Given the description of an element on the screen output the (x, y) to click on. 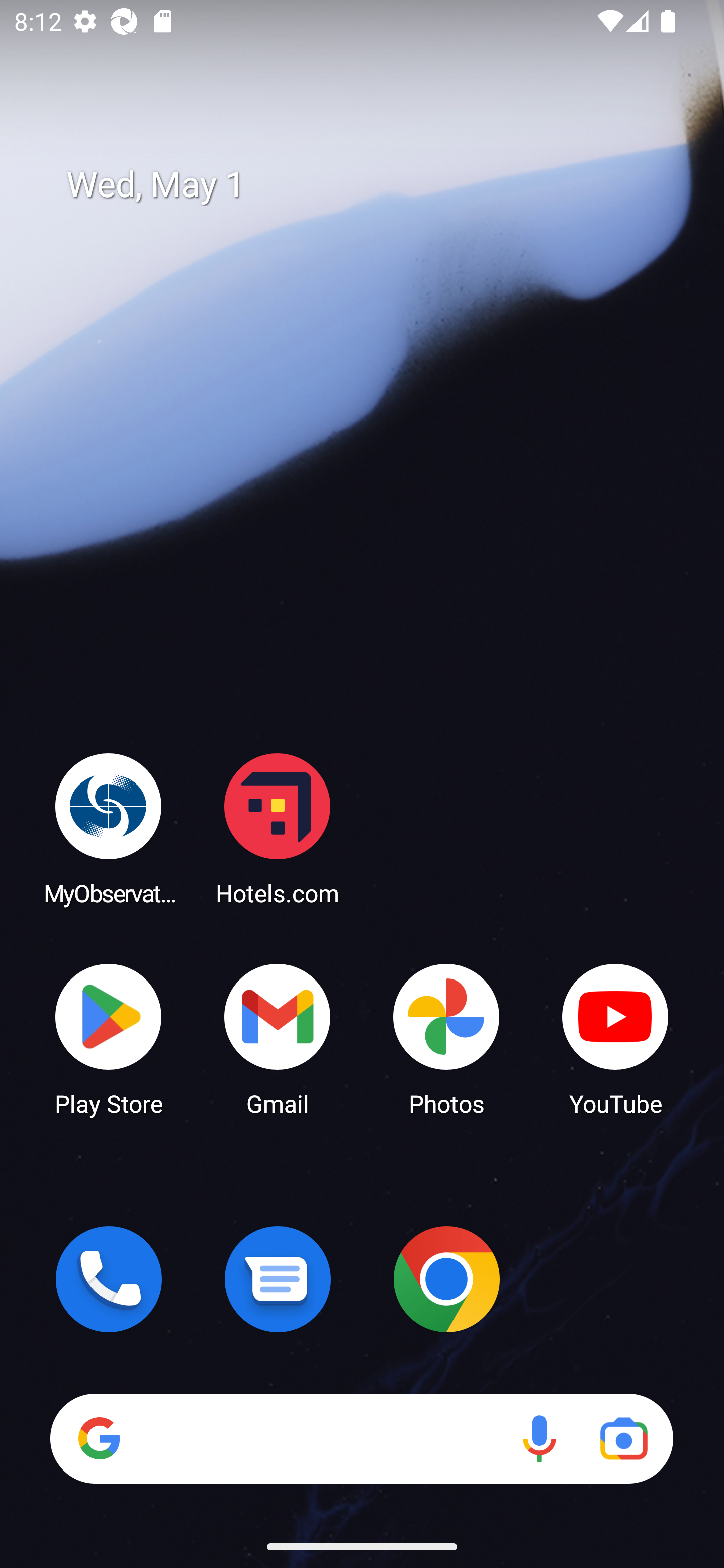
Wed, May 1 (375, 184)
MyObservatory (108, 828)
Hotels.com (277, 828)
Play Store (108, 1038)
Gmail (277, 1038)
Photos (445, 1038)
YouTube (615, 1038)
Phone (108, 1279)
Messages (277, 1279)
Chrome (446, 1279)
Search Voice search Google Lens (361, 1438)
Voice search (539, 1438)
Google Lens (623, 1438)
